Given the description of an element on the screen output the (x, y) to click on. 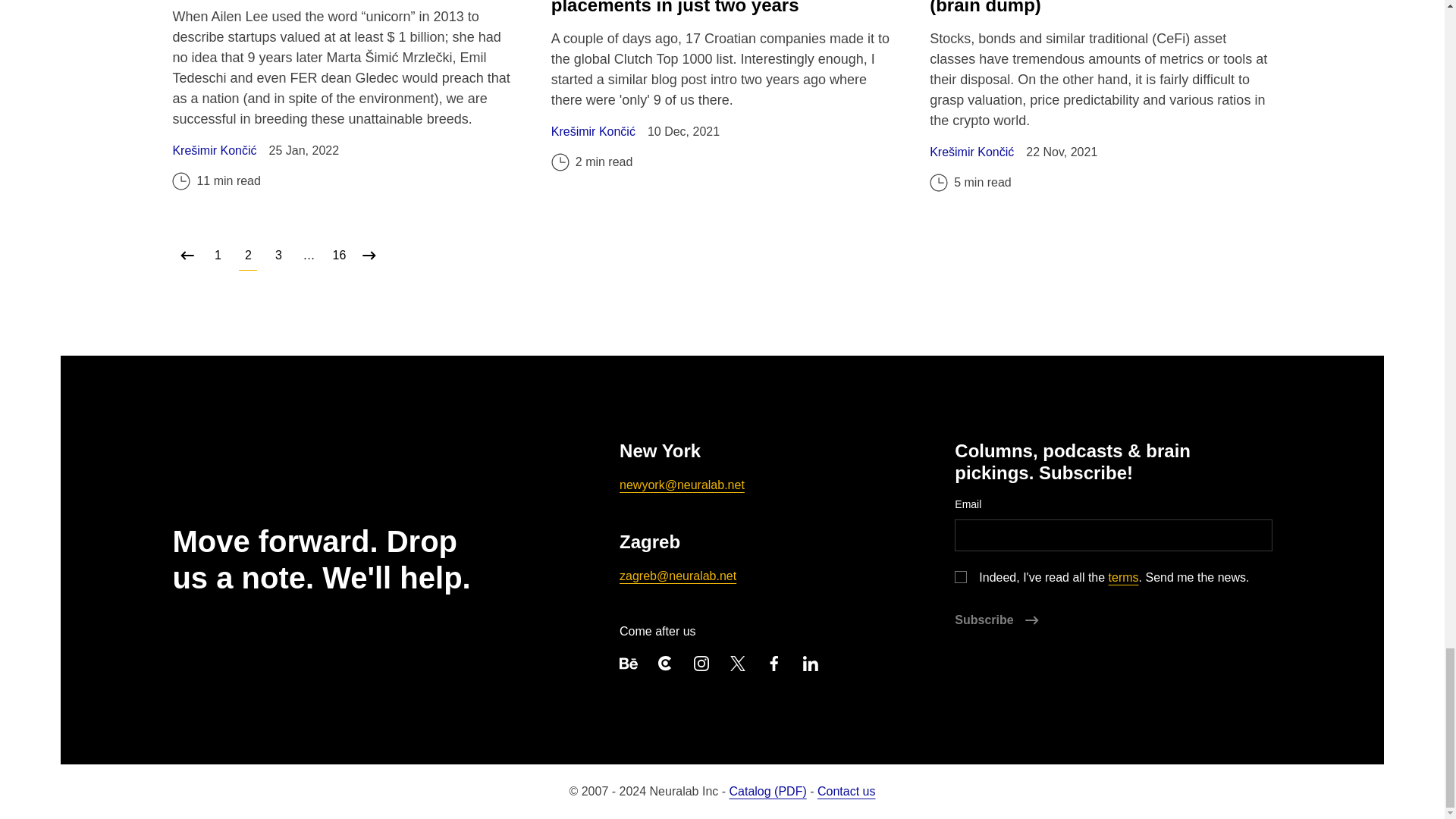
true (960, 576)
